Given the description of an element on the screen output the (x, y) to click on. 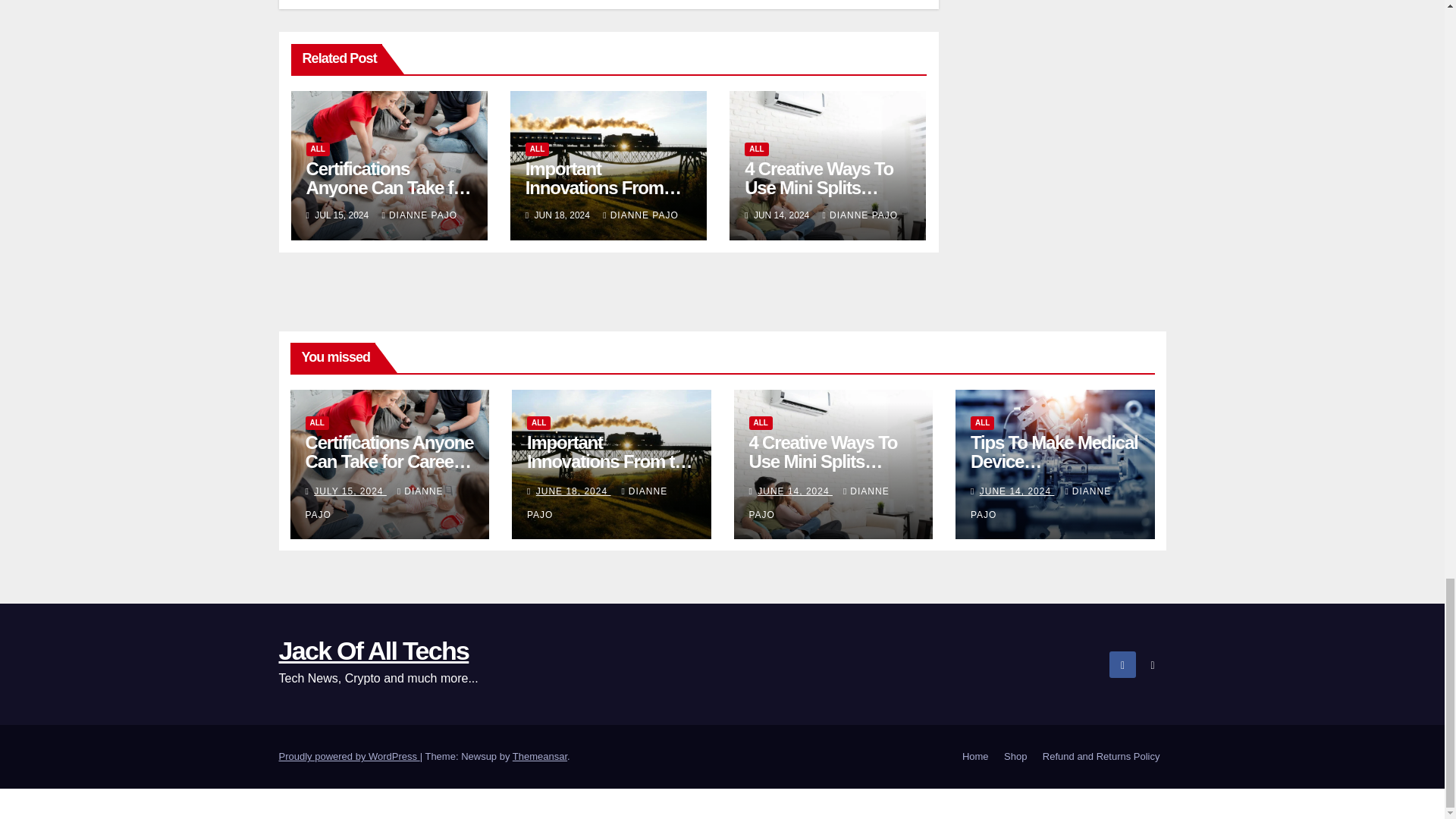
ALL (536, 149)
Certifications Anyone Can Take for Career Advancement (388, 187)
ALL (317, 149)
Important Innovations From the Industrial Revolution (603, 196)
DIANNE PAJO (419, 214)
